Given the description of an element on the screen output the (x, y) to click on. 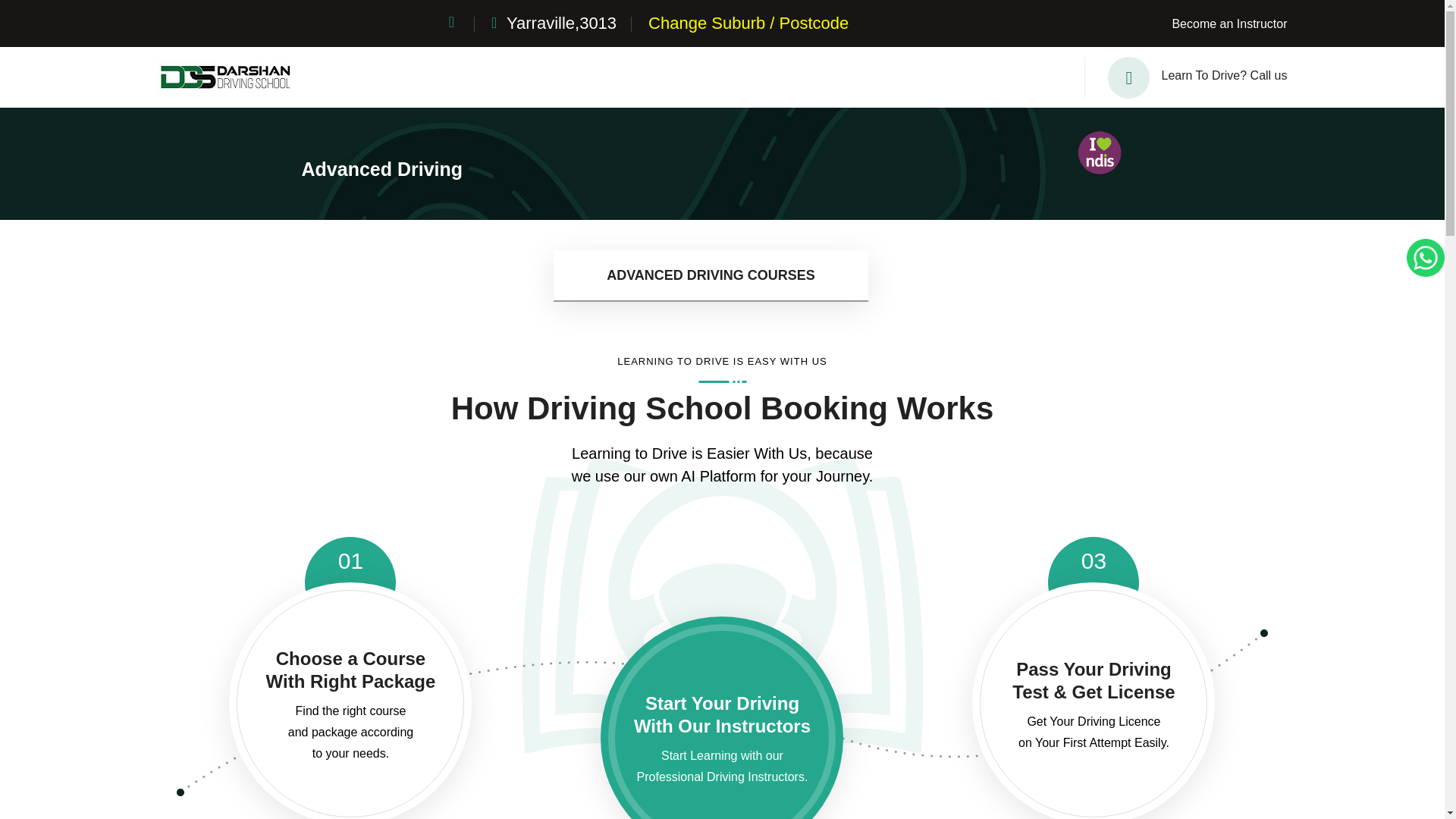
ADVANCED DRIVING COURSES (710, 276)
Become an Instructor (1229, 22)
Learn To Drive? Call us (1174, 77)
